Given the description of an element on the screen output the (x, y) to click on. 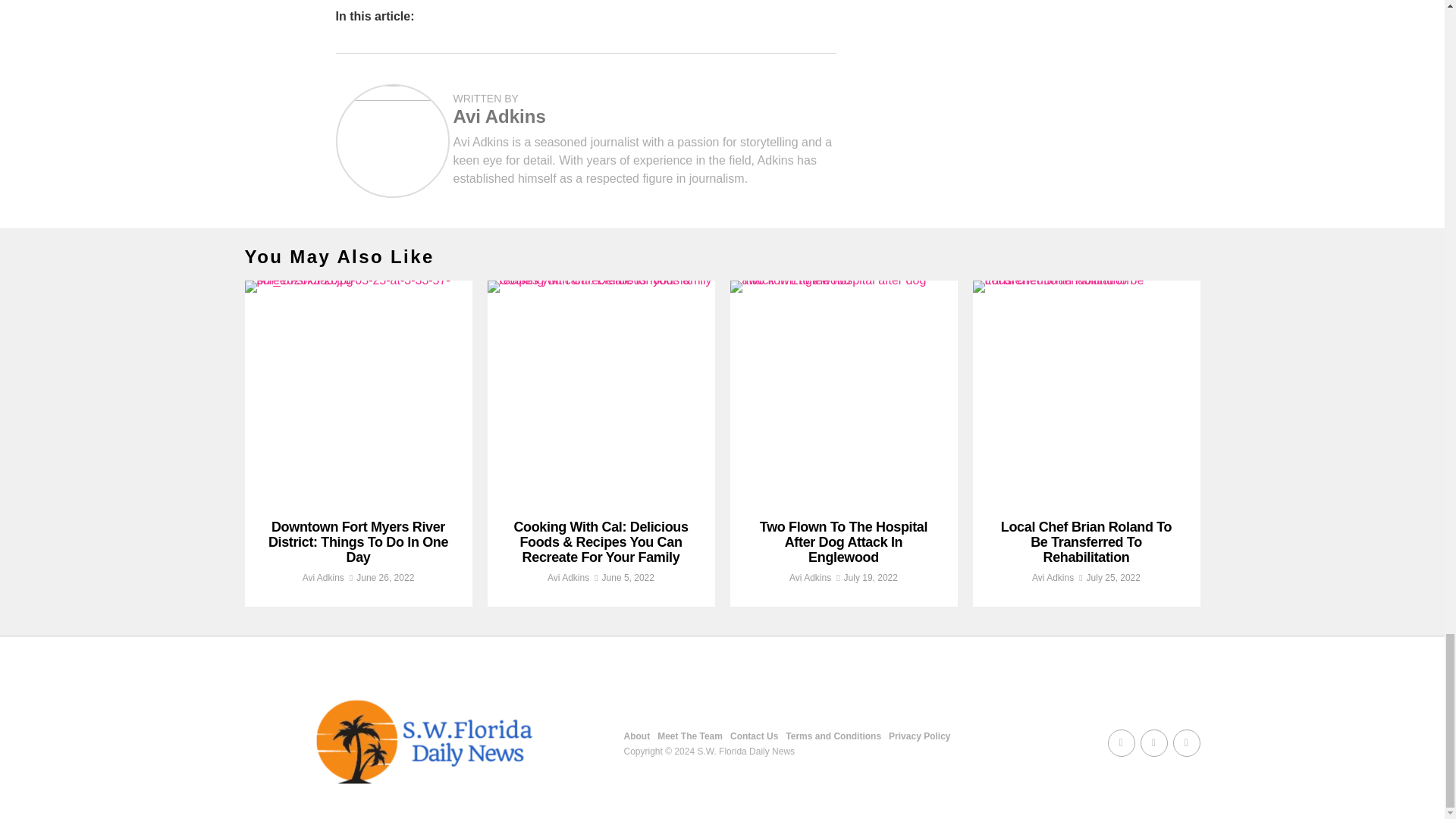
Posts by Avi Adkins (322, 577)
Posts by Avi Adkins (568, 577)
Posts by Avi Adkins (499, 116)
